Given the description of an element on the screen output the (x, y) to click on. 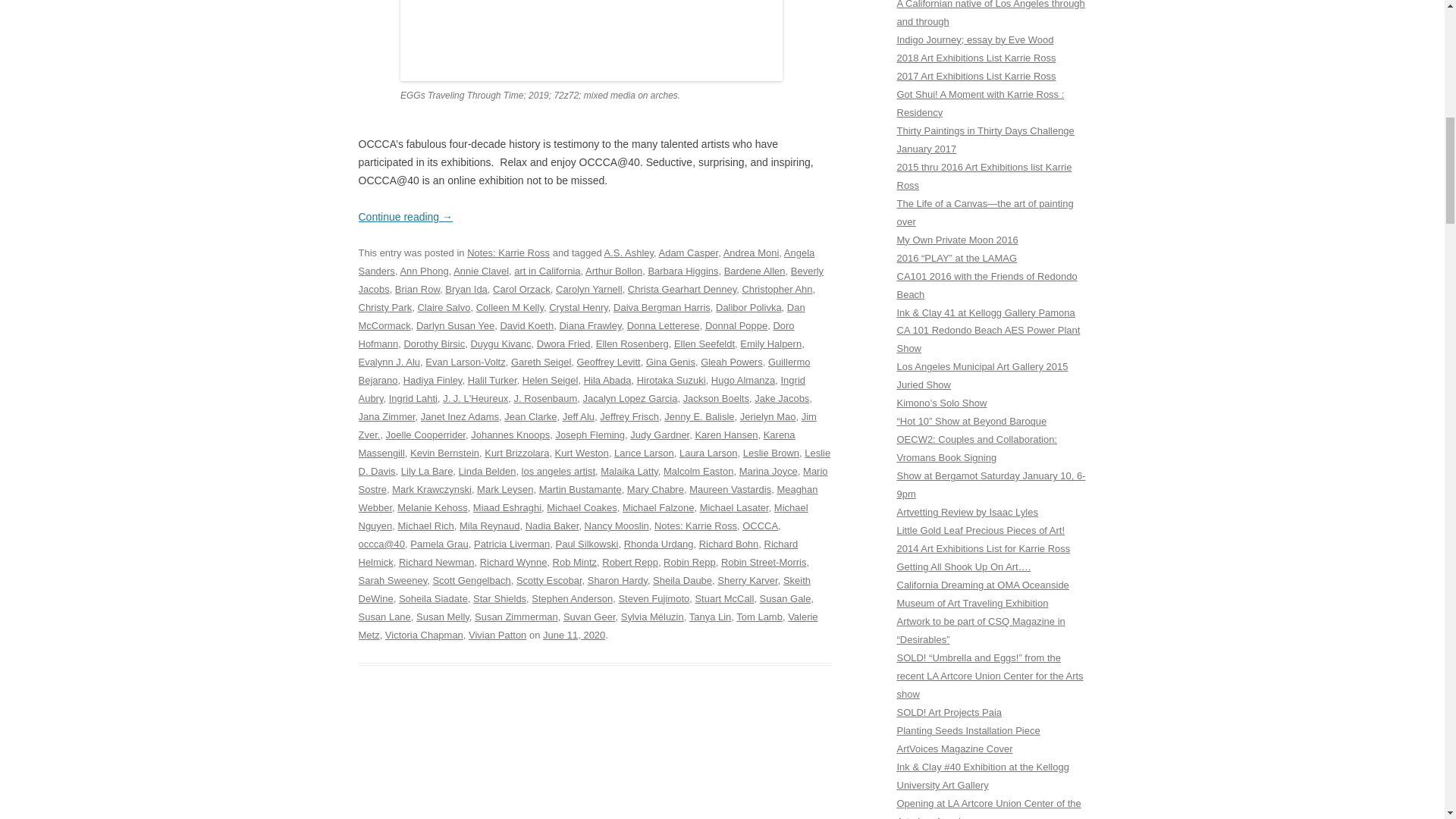
1:46 pm (574, 634)
Notes: Karrie Ross (508, 252)
